Given the description of an element on the screen output the (x, y) to click on. 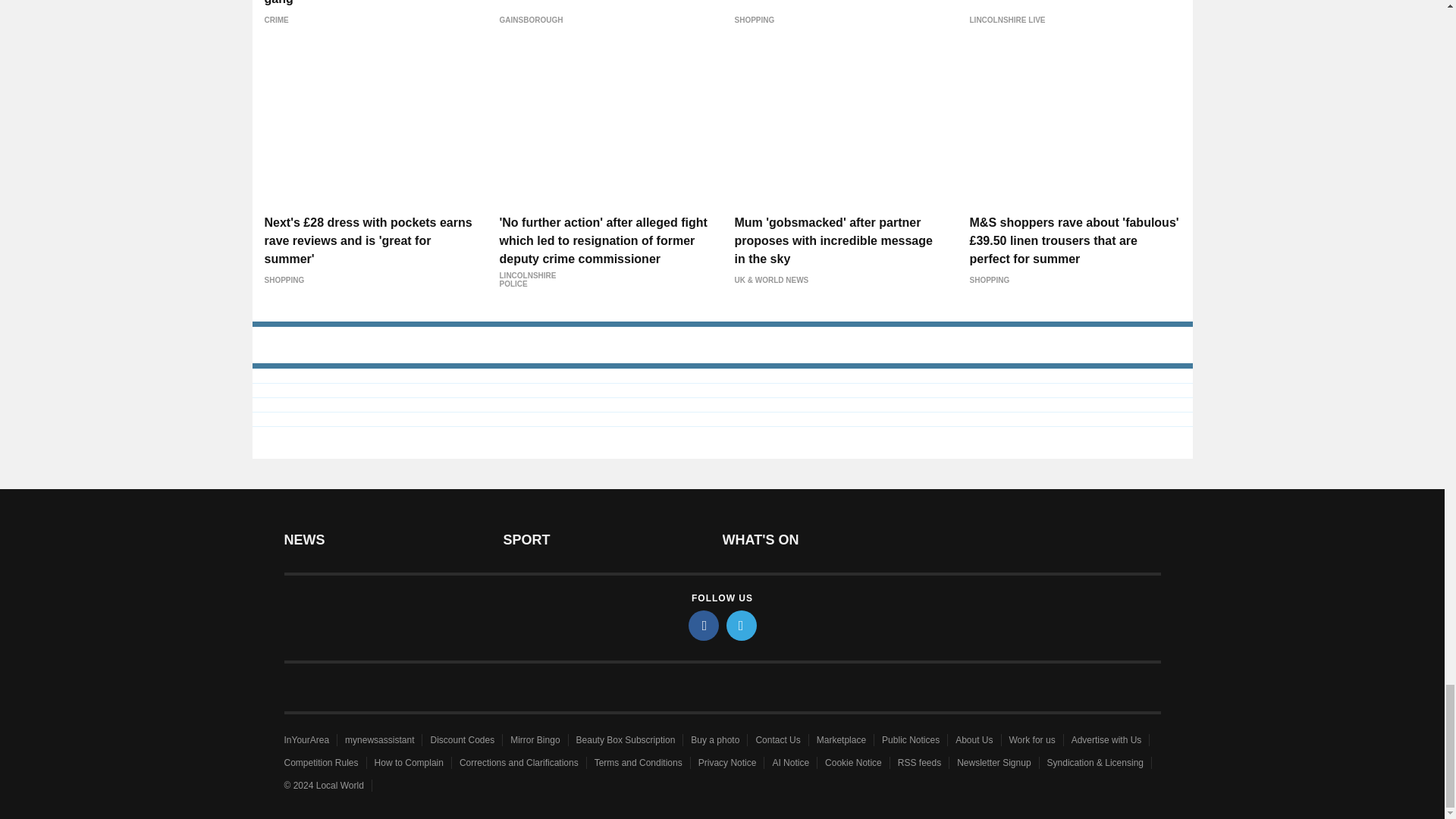
twitter (741, 625)
facebook (703, 625)
